Given the description of an element on the screen output the (x, y) to click on. 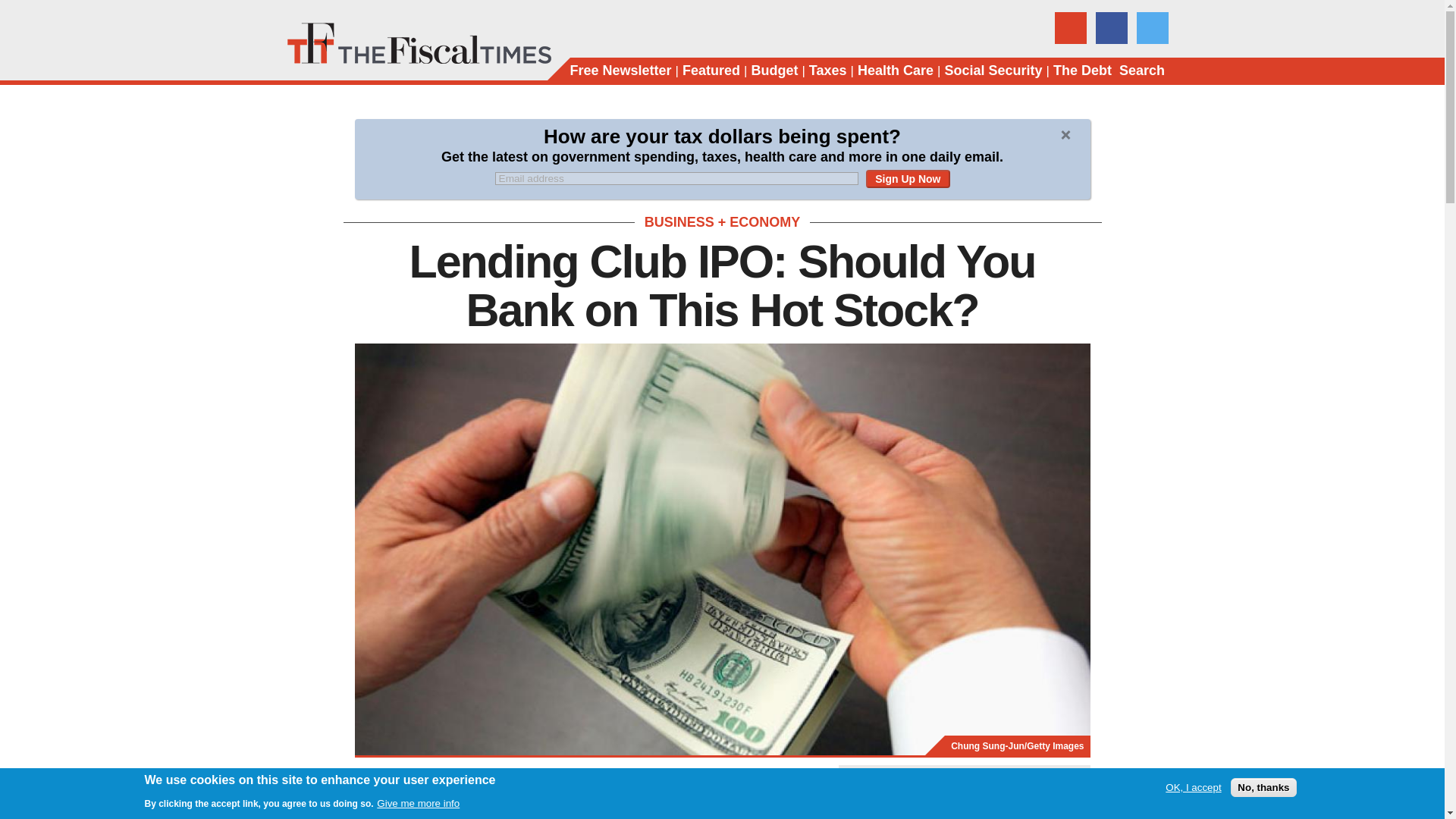
Budget (774, 71)
Search (1141, 71)
Budget (774, 71)
Social Security (992, 71)
Sign Up Now (907, 178)
The Debt (1082, 71)
Free Newsletter (620, 71)
Featured (710, 71)
Taxes (828, 71)
Health Care (895, 71)
